Given the description of an element on the screen output the (x, y) to click on. 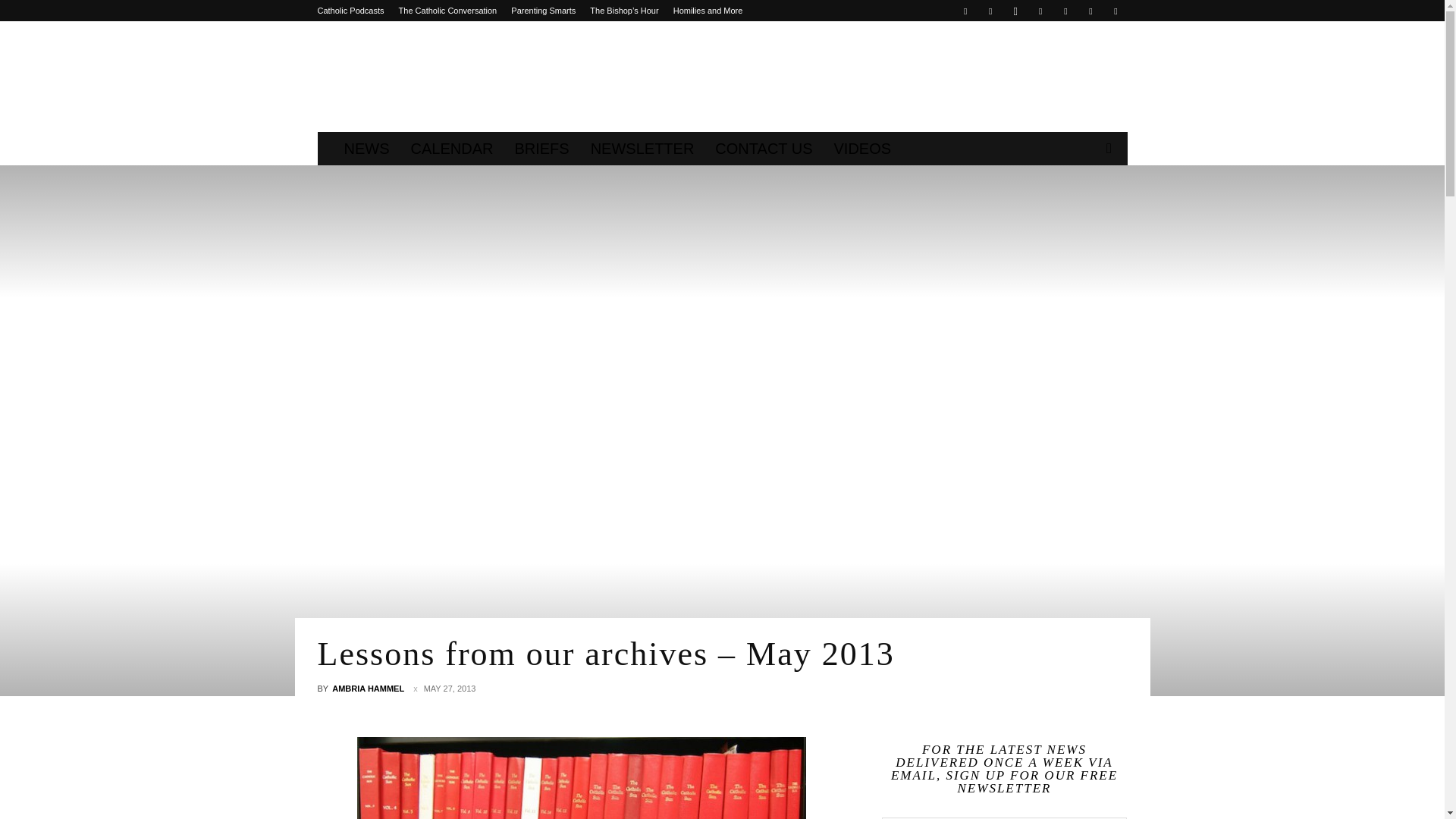
Linkedin (1040, 10)
Twitter (1065, 10)
Instagram (1015, 10)
Facebook (964, 10)
The Catholic Conversation (447, 10)
Parenting Smarts (543, 10)
NEWS (366, 148)
Flickr (989, 10)
Catholic Podcasts (350, 10)
Homilies and More (707, 10)
